Given the description of an element on the screen output the (x, y) to click on. 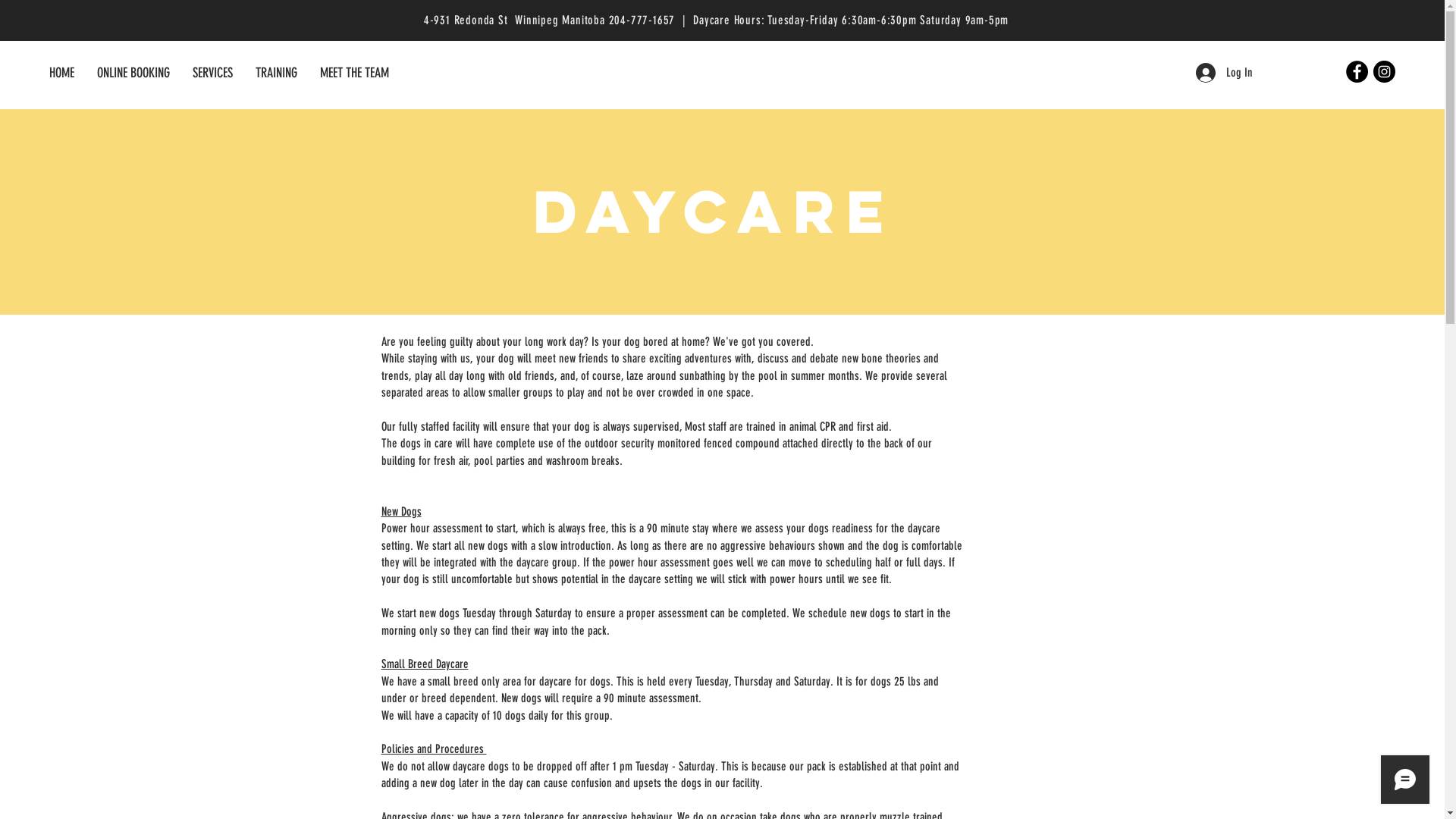
ONLINE BOOKING Element type: text (133, 72)
MEET THE TEAM Element type: text (354, 72)
Log In Element type: text (1224, 72)
HOME Element type: text (61, 72)
